Given the description of an element on the screen output the (x, y) to click on. 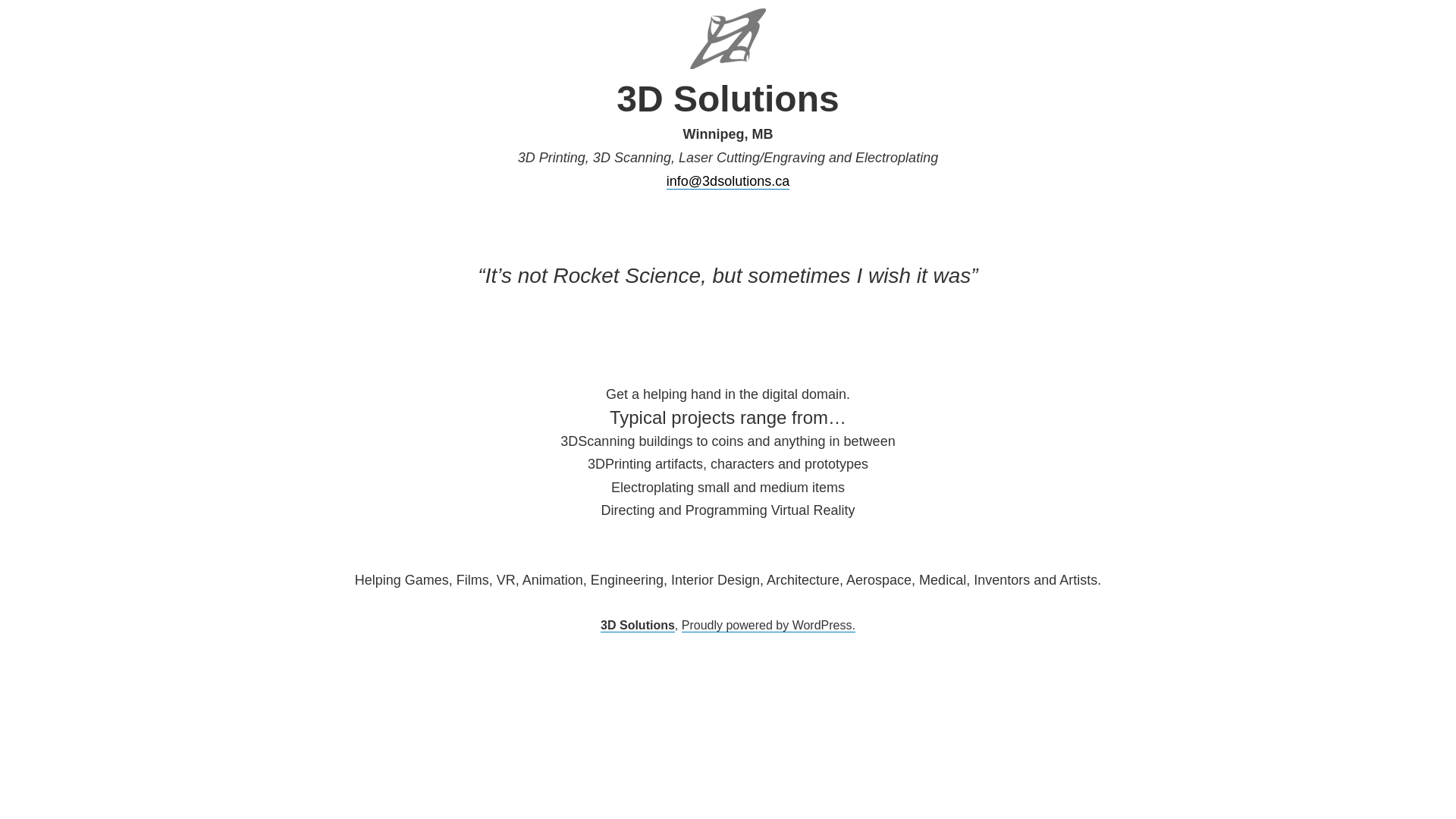
3dsolutions 3dprinting and 3dscanning Element type: hover (727, 37)
info@3dsolutions.ca Element type: text (727, 181)
3D Solutions Element type: text (637, 625)
Proudly powered by WordPress. Element type: text (768, 625)
